Given the description of an element on the screen output the (x, y) to click on. 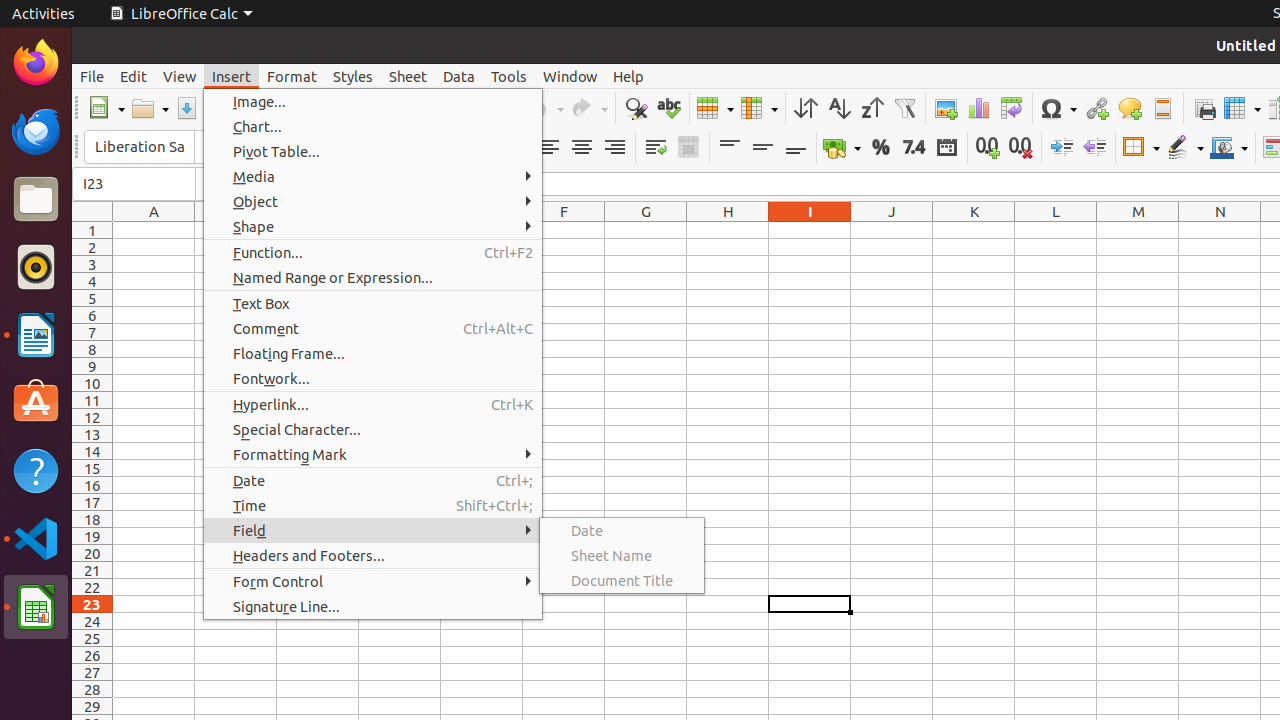
Chart... Element type: menu-item (373, 126)
Window Element type: menu (570, 76)
Special Character... Element type: menu-item (373, 429)
Image Element type: push-button (945, 108)
Signature Line... Element type: menu-item (373, 606)
